Given the description of an element on the screen output the (x, y) to click on. 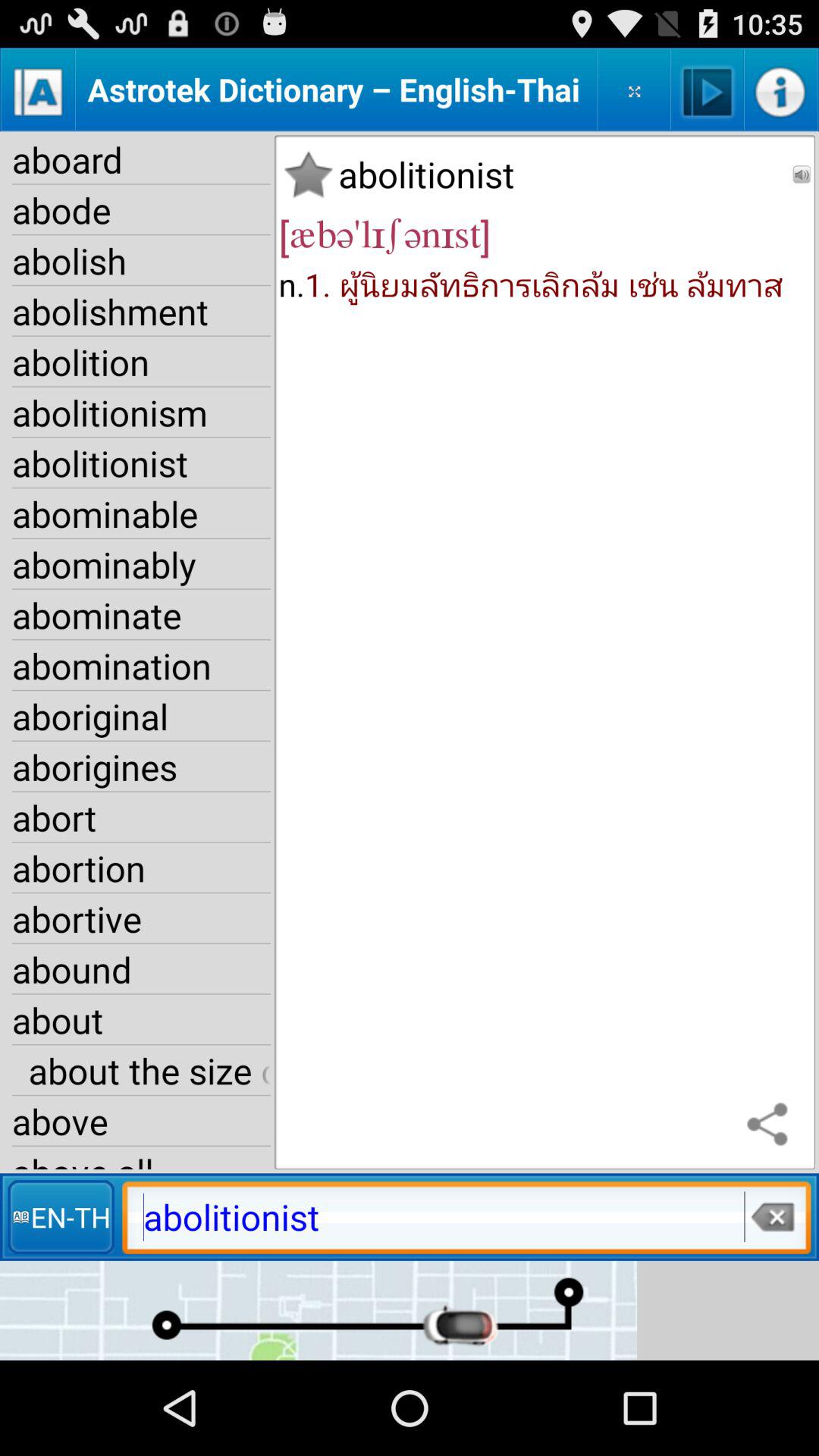
play the word aloud (707, 89)
